Given the description of an element on the screen output the (x, y) to click on. 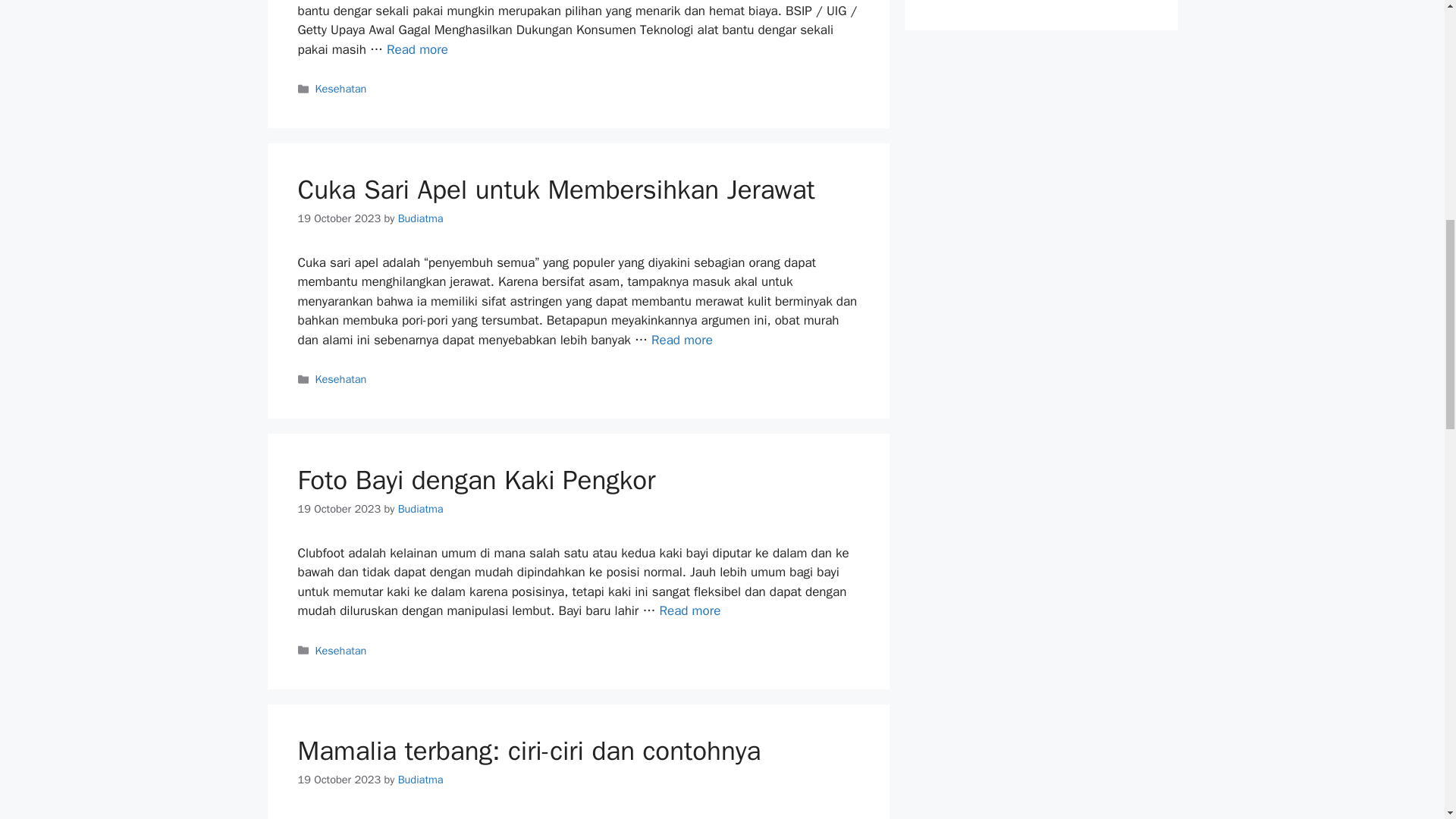
Mamalia terbang: ciri-ciri dan contohnya (528, 750)
Read more (689, 610)
Foto Bayi dengan Kaki Pengkor (476, 479)
Budiatma (420, 508)
Cuka Sari Apel untuk Membersihkan Jerawat (555, 189)
View all posts by Budiatma (420, 218)
Kesehatan (340, 88)
View all posts by Budiatma (420, 508)
Kesehatan (340, 650)
View all posts by Budiatma (420, 779)
Read more (681, 340)
Apakah Alat Bantu Dengar Sekali Pakai Layak? (417, 49)
Budiatma (420, 779)
Budiatma (420, 218)
Read more (417, 49)
